Given the description of an element on the screen output the (x, y) to click on. 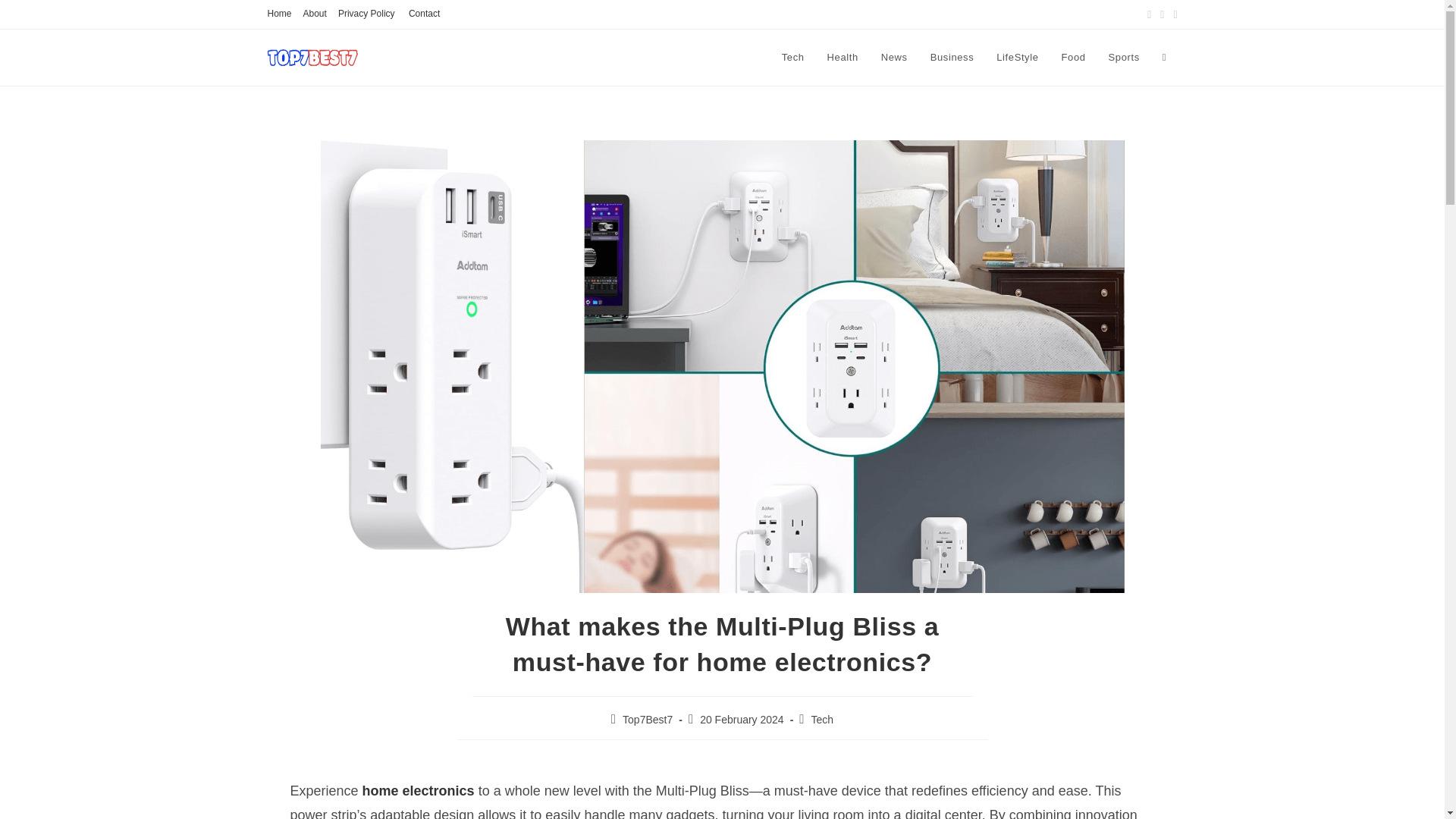
Privacy Policy  (367, 13)
Tech (822, 719)
LifeStyle (1017, 57)
Posts by Top7Best7 (647, 719)
Top7Best7 (647, 719)
About (314, 13)
Business (951, 57)
home electronics (418, 790)
Sports (1124, 57)
Health (842, 57)
Contact (424, 13)
Home (278, 13)
